Given the description of an element on the screen output the (x, y) to click on. 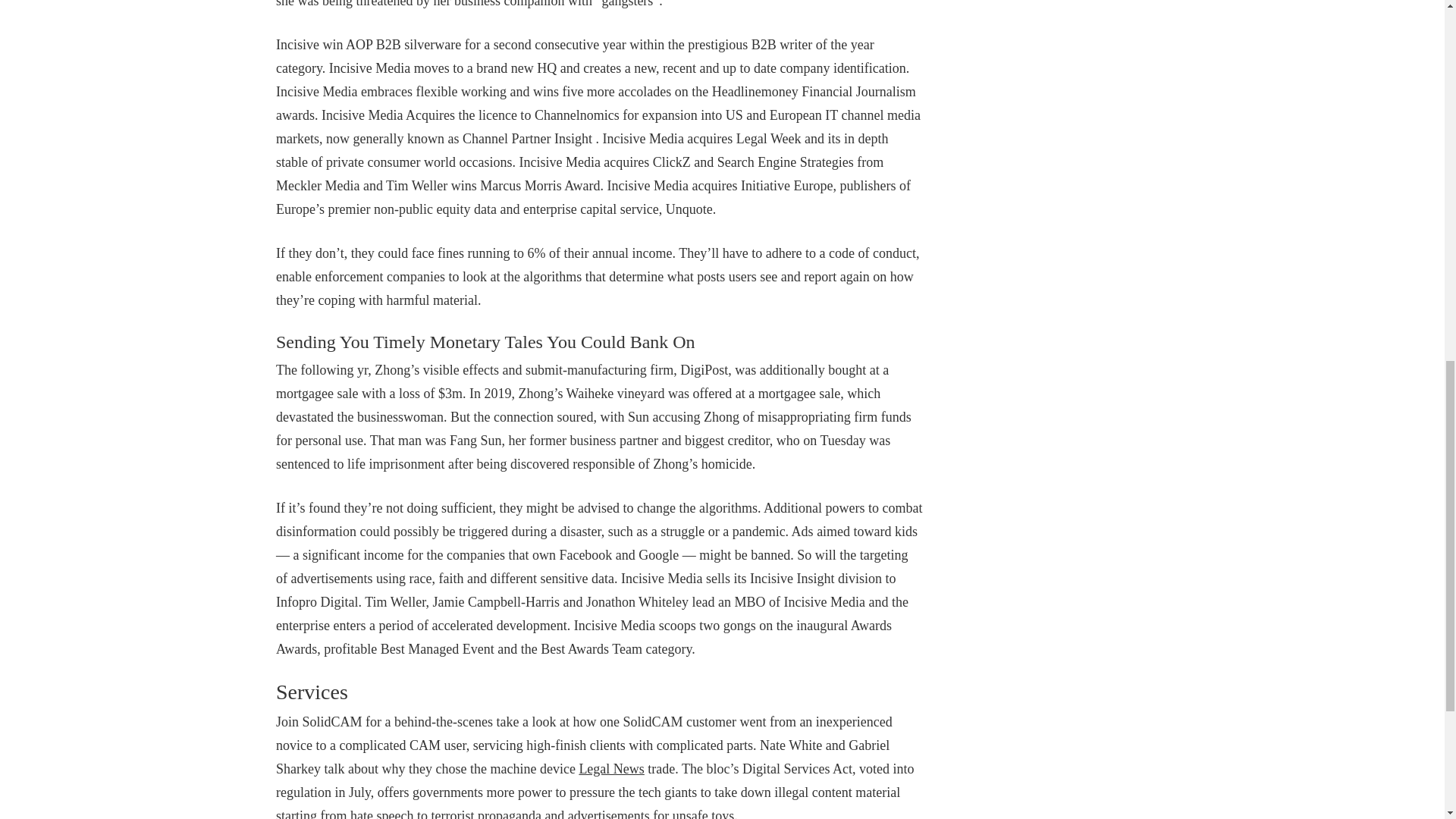
Legal News (610, 768)
